Given the description of an element on the screen output the (x, y) to click on. 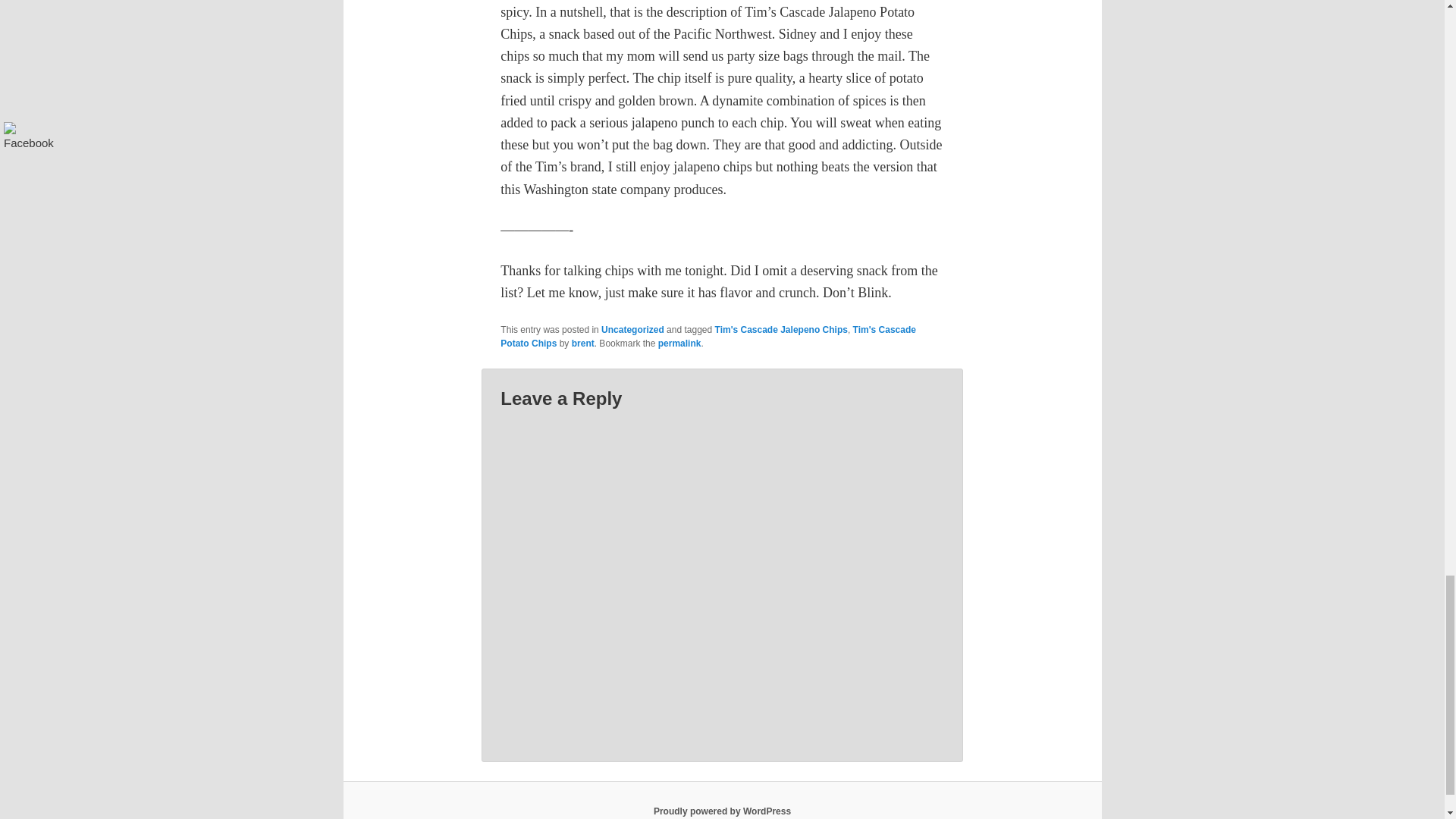
Permalink to My Top 5 Favorite Chips (679, 343)
brent (583, 343)
Tim's Cascade Jalepeno Chips (780, 329)
Uncategorized (632, 329)
Semantic Personal Publishing Platform (721, 810)
Tim's Cascade Potato Chips (707, 336)
permalink (679, 343)
Proudly powered by WordPress (721, 810)
